Given the description of an element on the screen output the (x, y) to click on. 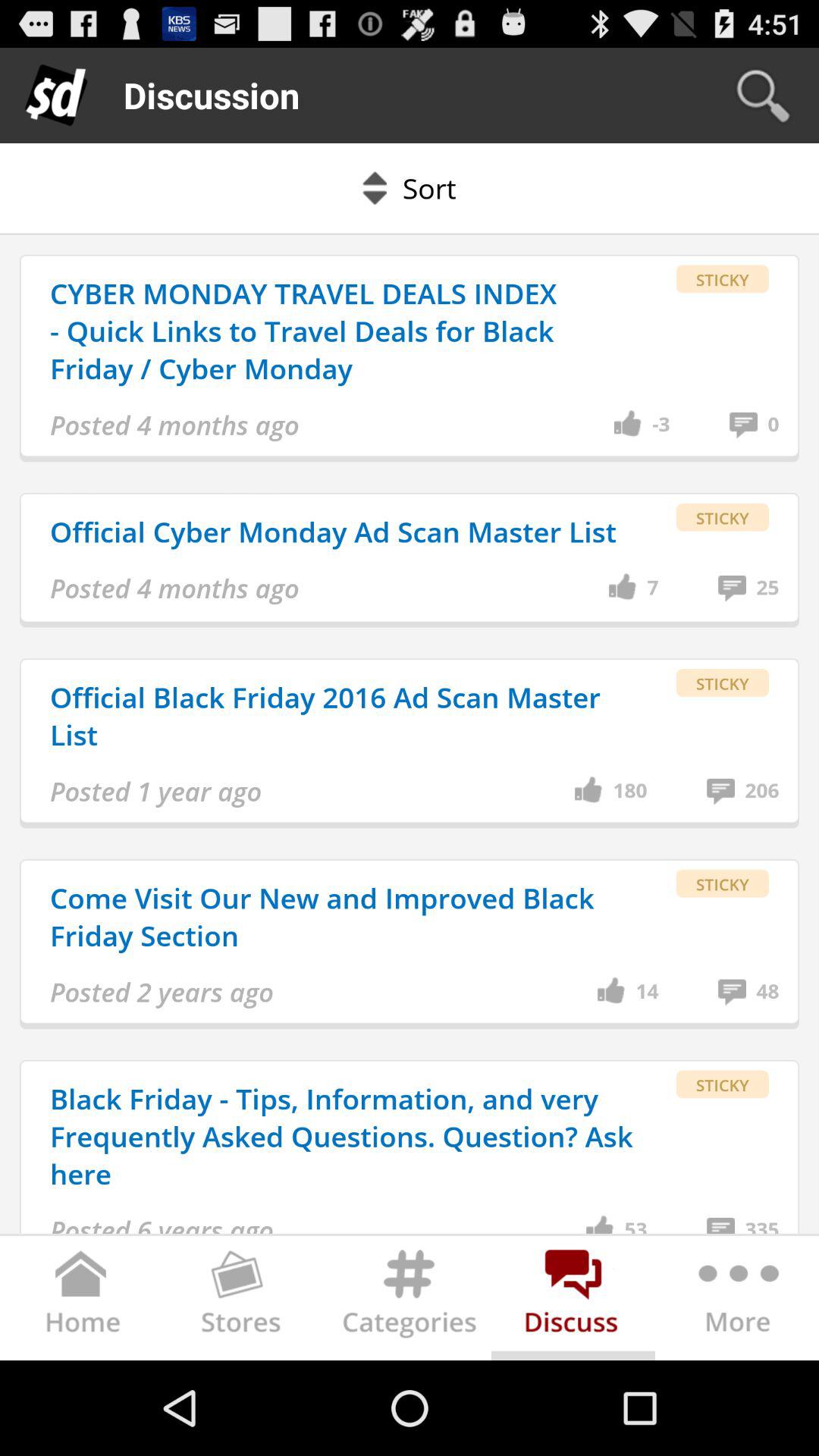
select the 335 (762, 1224)
